Given the description of an element on the screen output the (x, y) to click on. 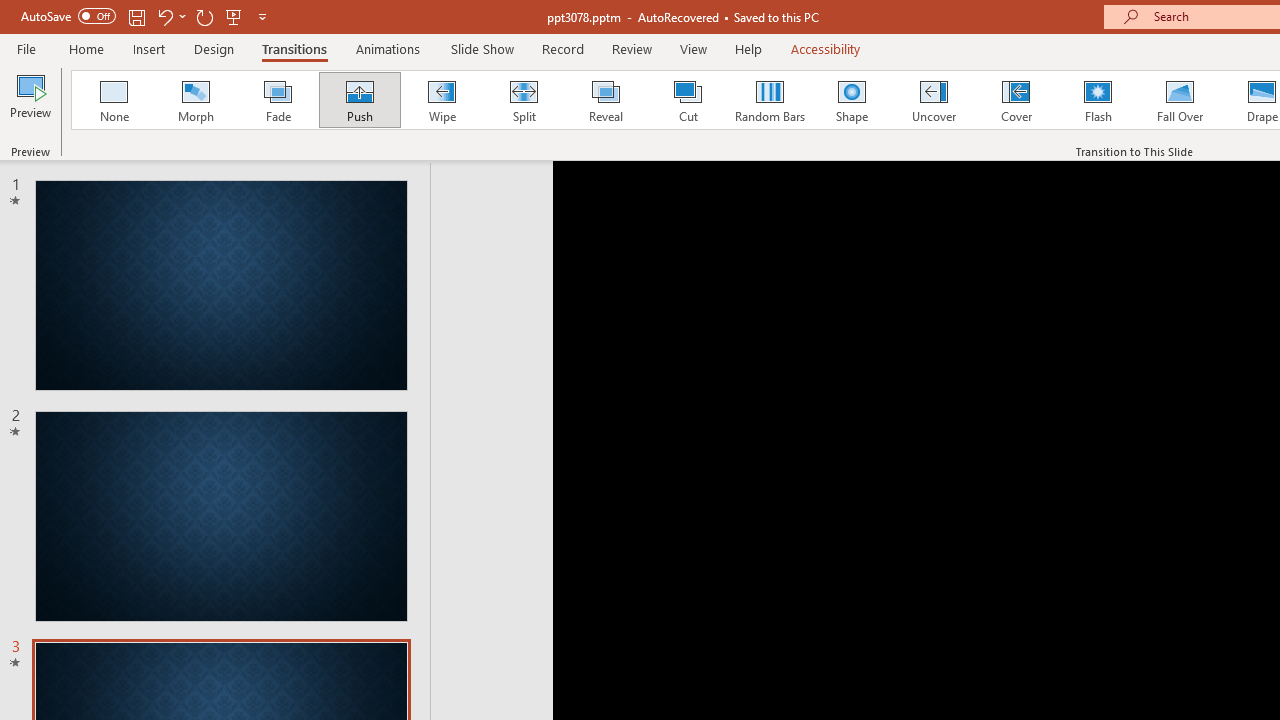
Shape (852, 100)
Fall Over (1180, 100)
Cut (687, 100)
Wipe (441, 100)
Reveal (605, 100)
